Given the description of an element on the screen output the (x, y) to click on. 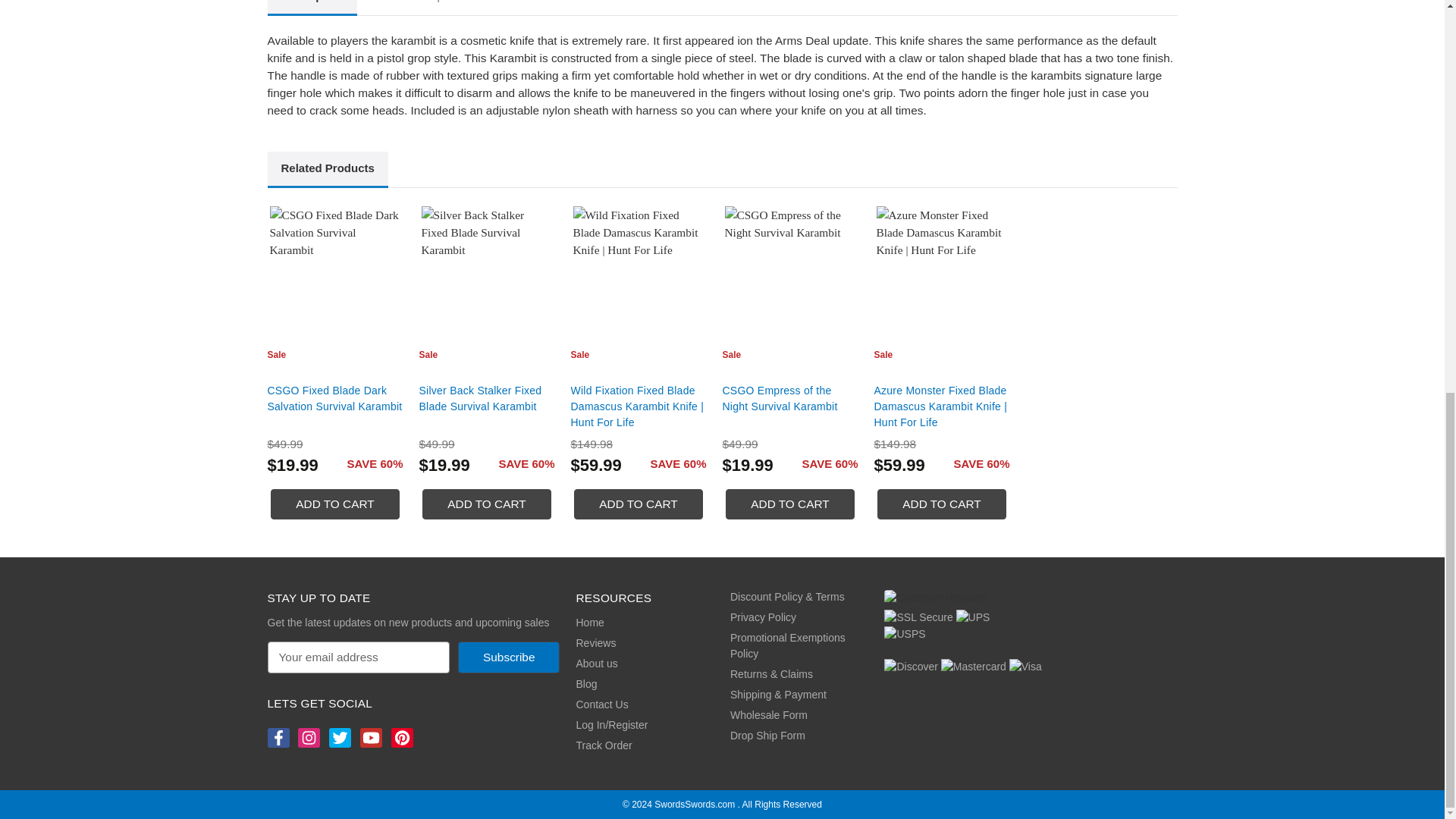
Subscribe (508, 657)
SwordsSwords Facebook (276, 737)
Silver Back Stalker Fixed Blade Survival Karambit (487, 271)
CSGO Empress of the Night Survival Karambit (790, 271)
CSGO Fixed Blade Dark Salvation Survival Karambit (335, 271)
